Given the description of an element on the screen output the (x, y) to click on. 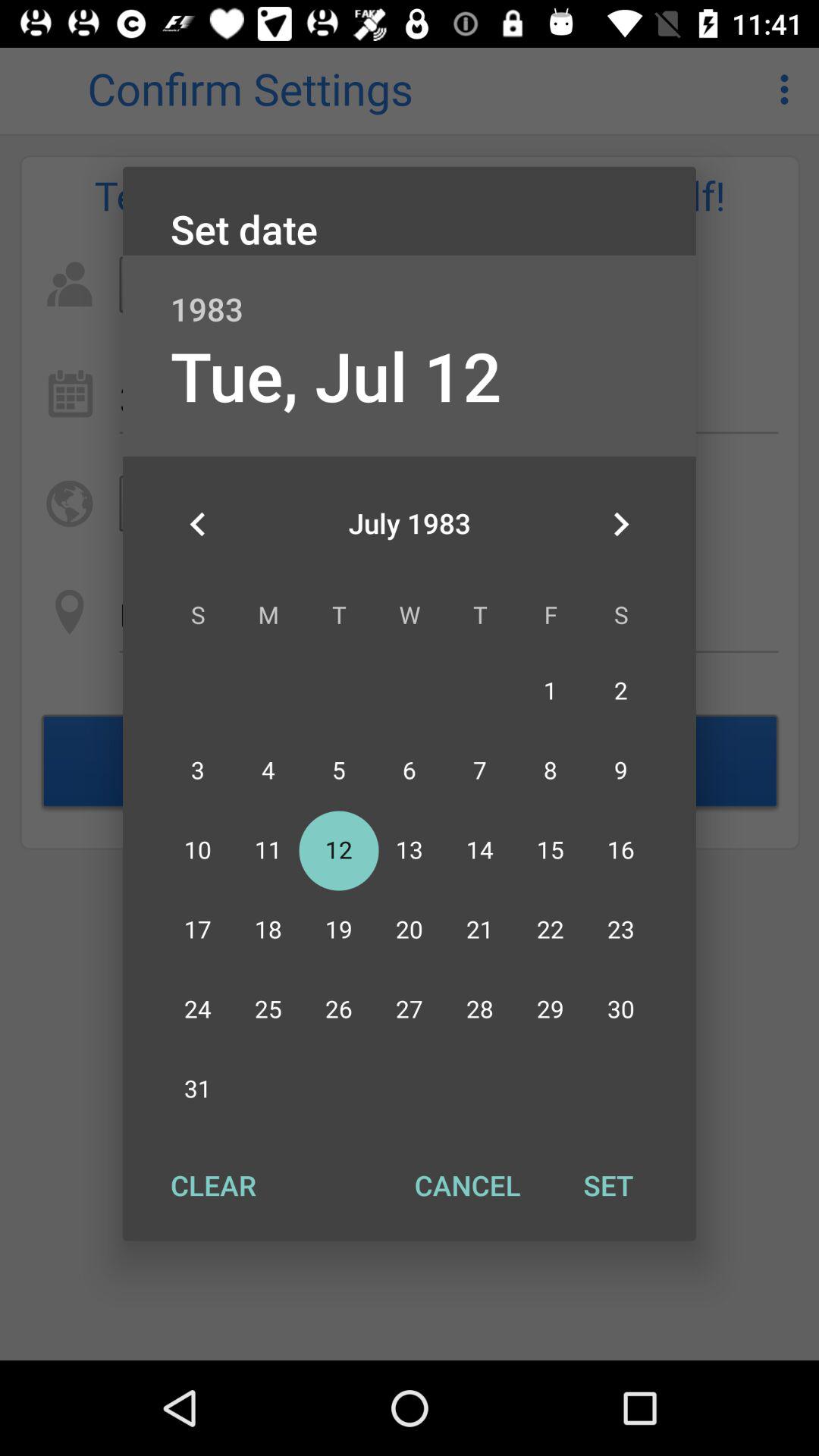
launch the item to the left of the cancel (213, 1185)
